Given the description of an element on the screen output the (x, y) to click on. 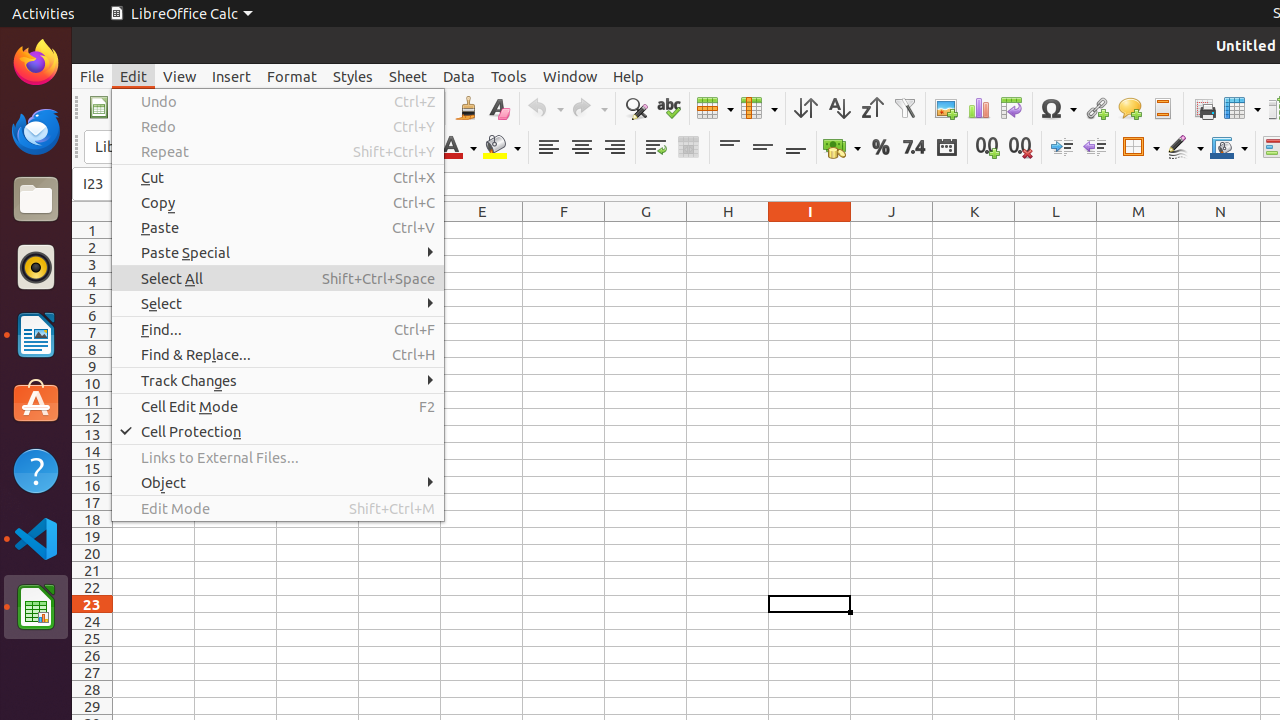
LibreOffice Calc Element type: menu (181, 13)
Sort Ascending Element type: push-button (838, 108)
Pivot Table Element type: push-button (1011, 108)
Sort Element type: push-button (805, 108)
